Given the description of an element on the screen output the (x, y) to click on. 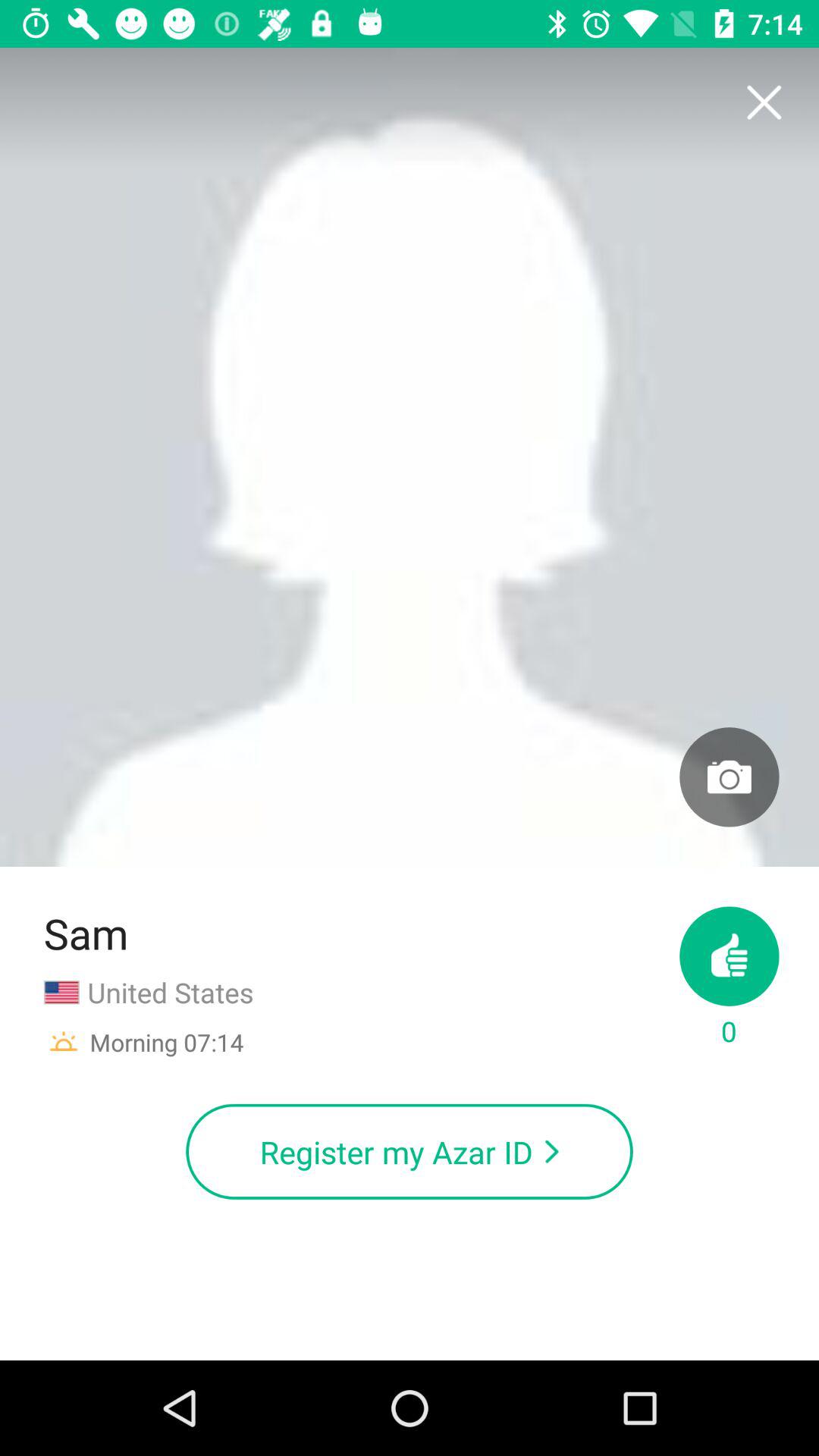
take photo (729, 776)
